Given the description of an element on the screen output the (x, y) to click on. 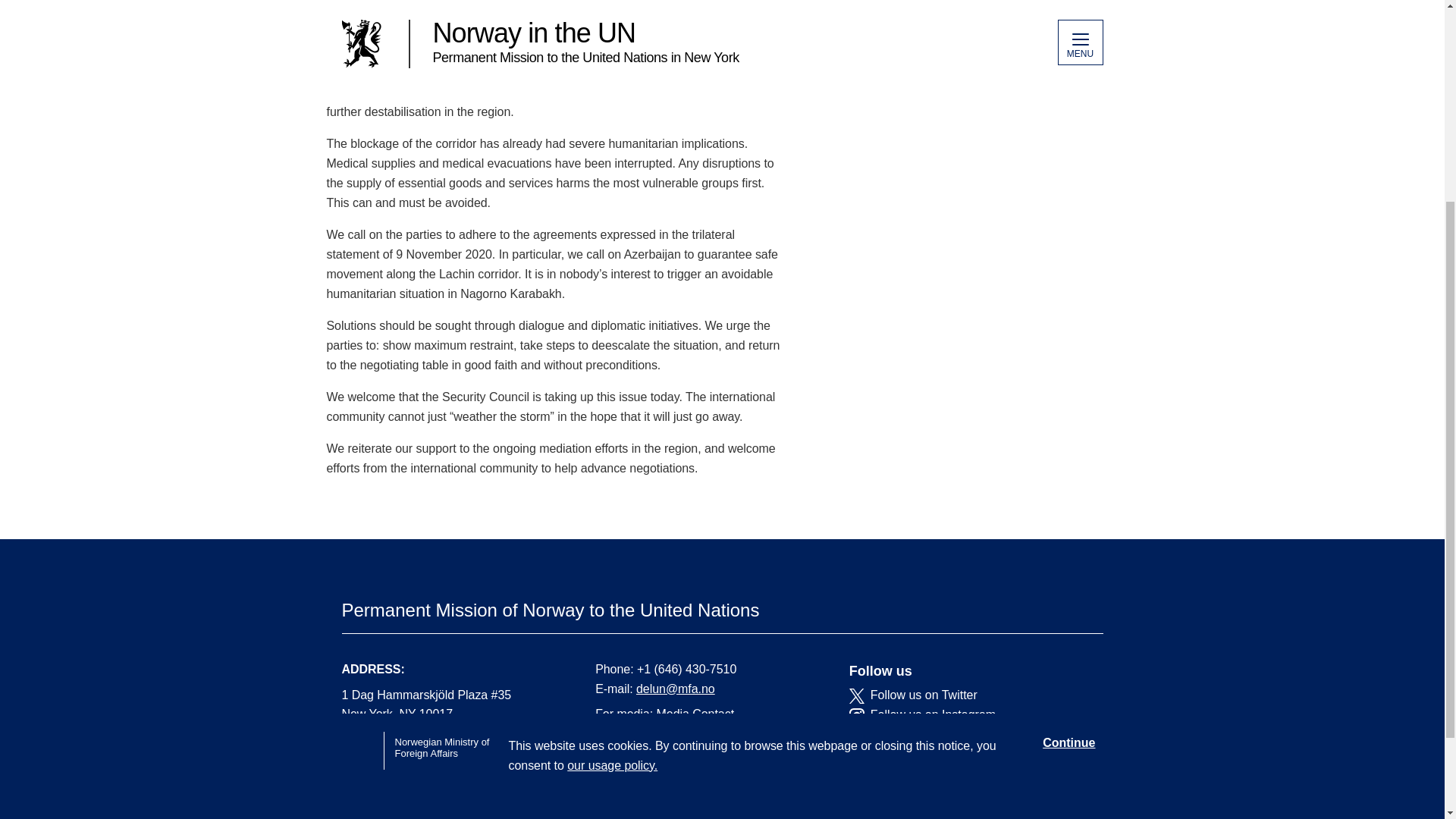
our usage policy. (612, 474)
Continue (1068, 452)
Media Contact (695, 713)
Follow us on Twitter (964, 694)
Media Contact (695, 713)
Follow us on Instagram (964, 714)
